Given the description of an element on the screen output the (x, y) to click on. 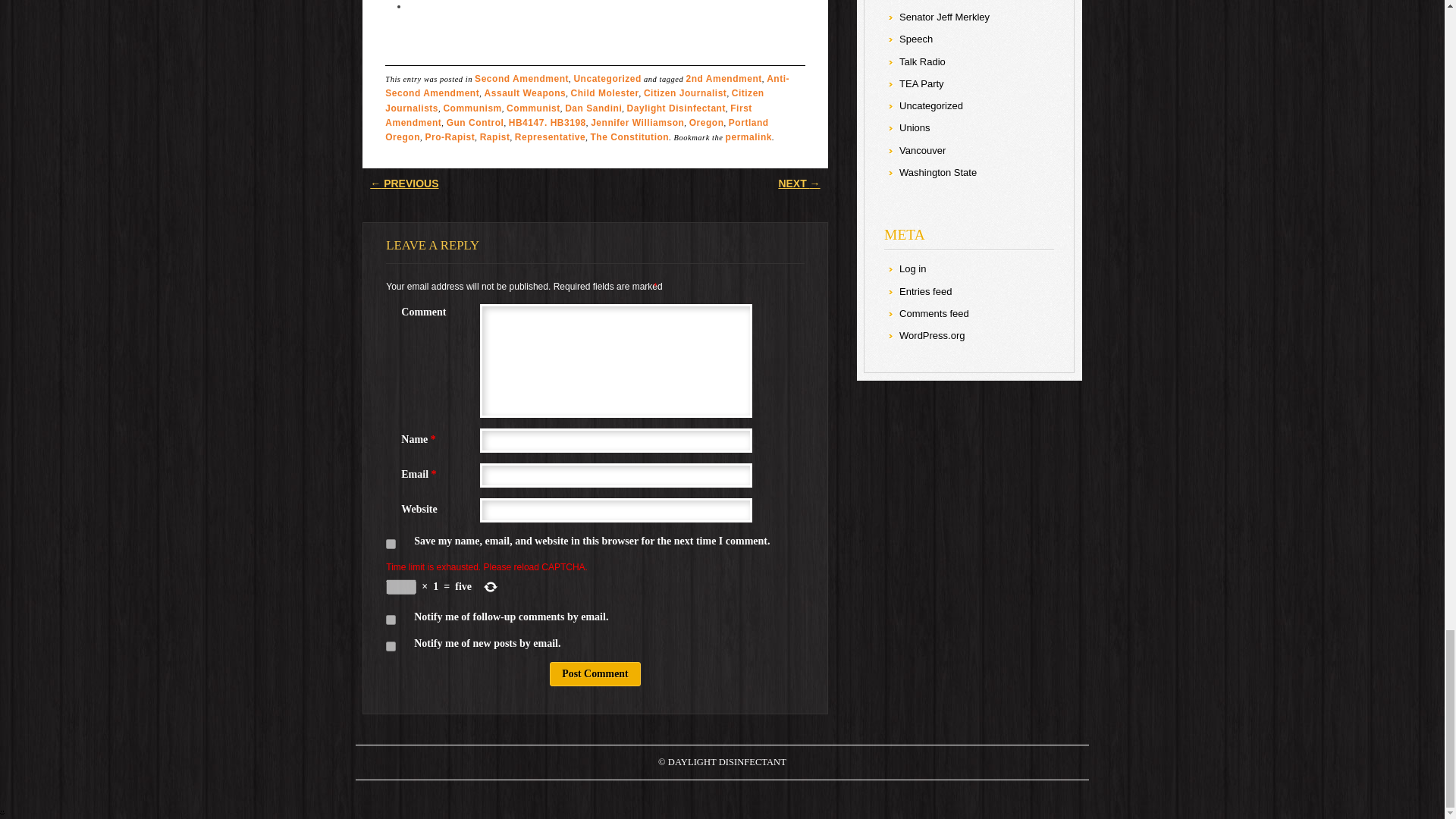
subscribe (390, 646)
subscribe (390, 619)
Post Comment (595, 673)
yes (390, 543)
